Given the description of an element on the screen output the (x, y) to click on. 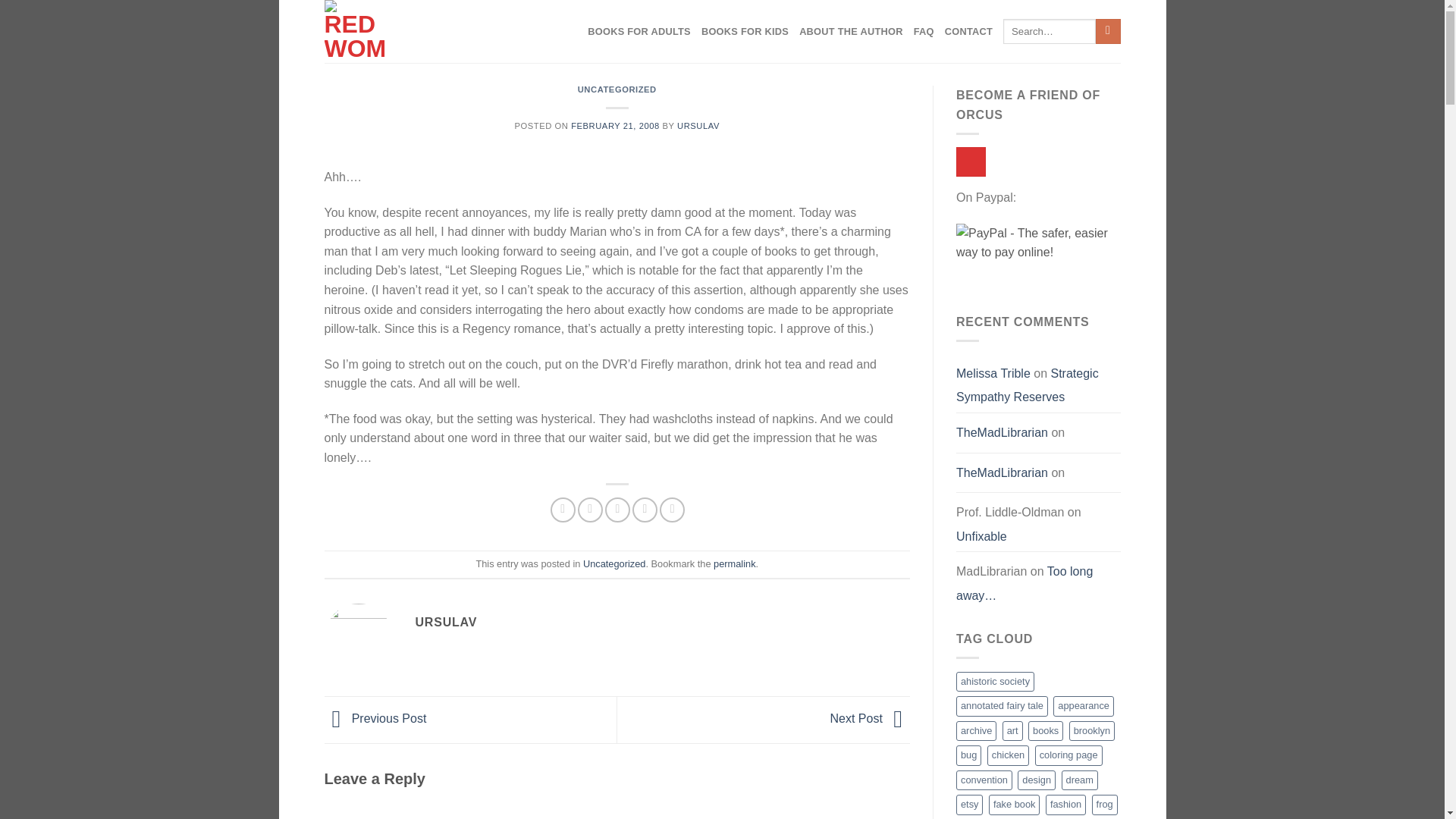
Share on Twitter (590, 509)
Previous Post (375, 717)
Email to a Friend (617, 509)
Pin on Pinterest (644, 509)
BOOKS FOR KIDS (745, 31)
permalink (734, 563)
BOOKS FOR ADULTS (639, 31)
FEBRUARY 21, 2008 (614, 125)
UNCATEGORIZED (617, 89)
Permalink to  (734, 563)
